Given the description of an element on the screen output the (x, y) to click on. 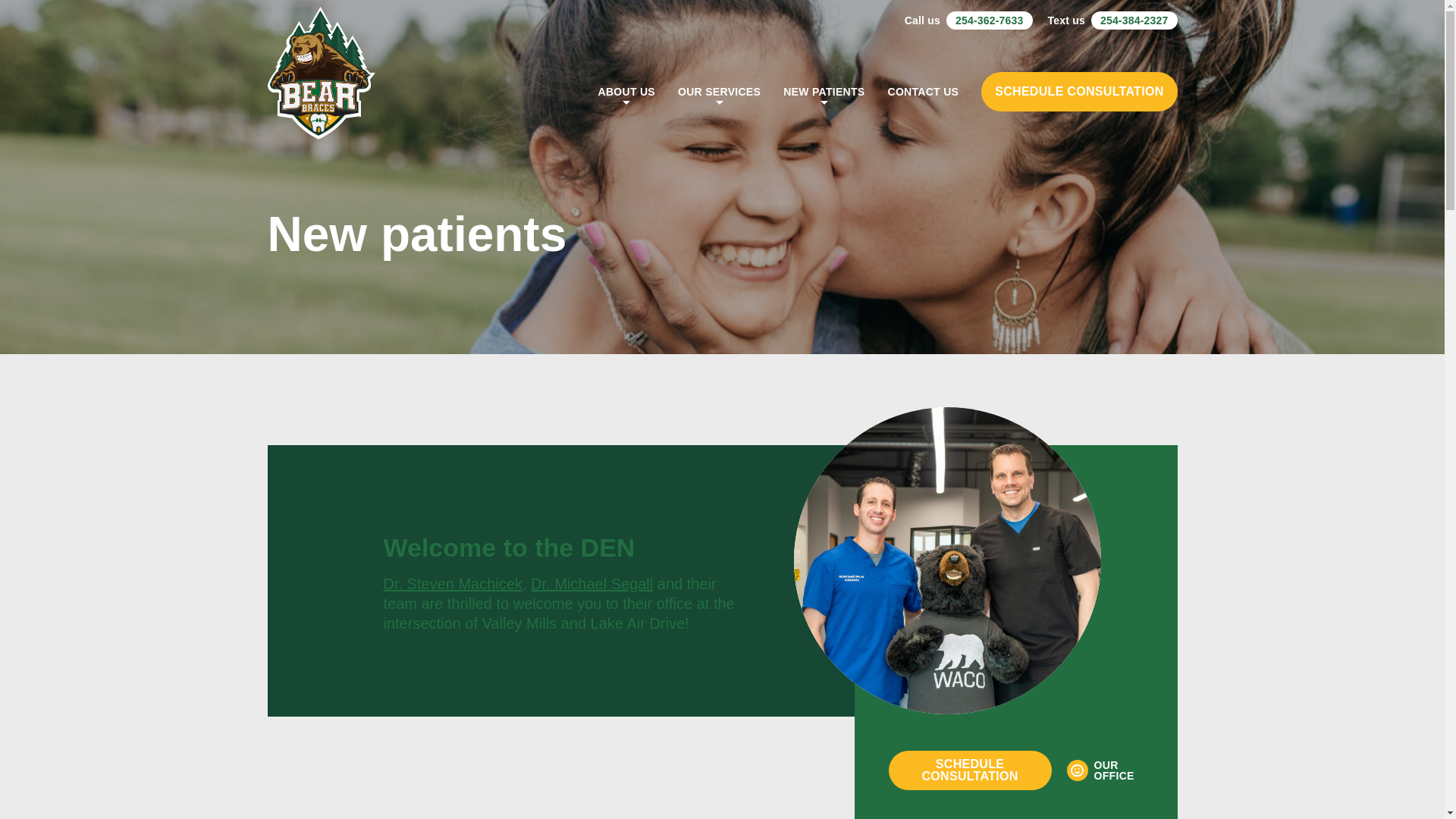
Dr. Steven Machicek (453, 583)
Bear Braces (320, 90)
SCHEDULE CONSULTATION (969, 770)
OUR SERVICES (719, 91)
Dr. Michael Segall (591, 583)
OUR OFFICE (1104, 770)
CONTACT US (922, 91)
SCHEDULE CONSULTATION (1078, 90)
254-362-7633 (989, 20)
Return to Homepage (320, 90)
NEW PATIENTS (823, 91)
254-384-2327 (1133, 20)
ABOUT US (625, 91)
